Given the description of an element on the screen output the (x, y) to click on. 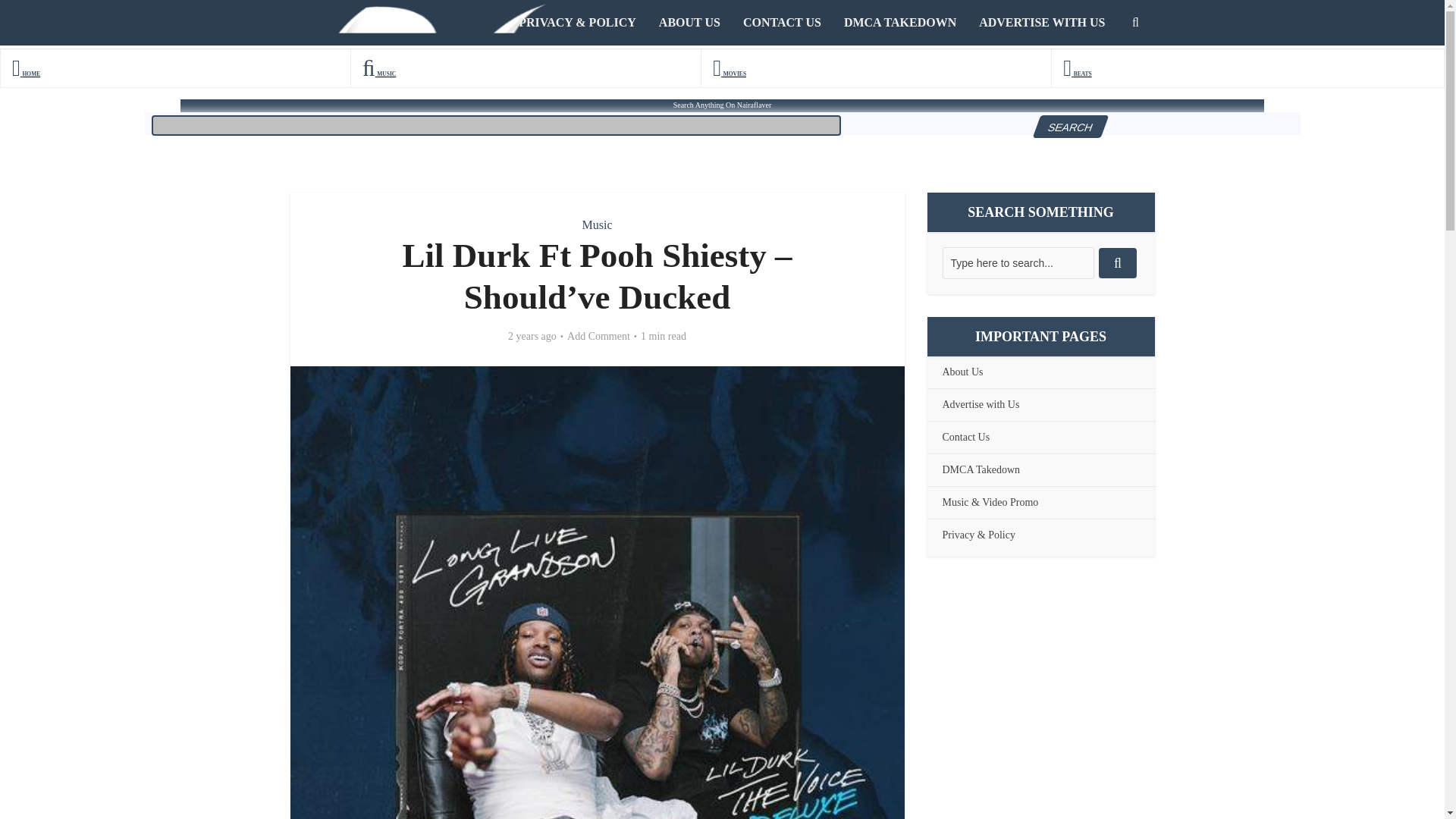
HOME (25, 72)
CONTACT US (782, 22)
DMCA TAKEDOWN (900, 22)
BEATS (1077, 72)
Type here to search... (1017, 263)
SEARCH (1066, 126)
Add Comment (598, 336)
MOVIES (729, 72)
Music (597, 224)
ABOUT US (689, 22)
MUSIC (379, 72)
ADVERTISE WITH US (1042, 22)
Type here to search... (1017, 263)
